Given the description of an element on the screen output the (x, y) to click on. 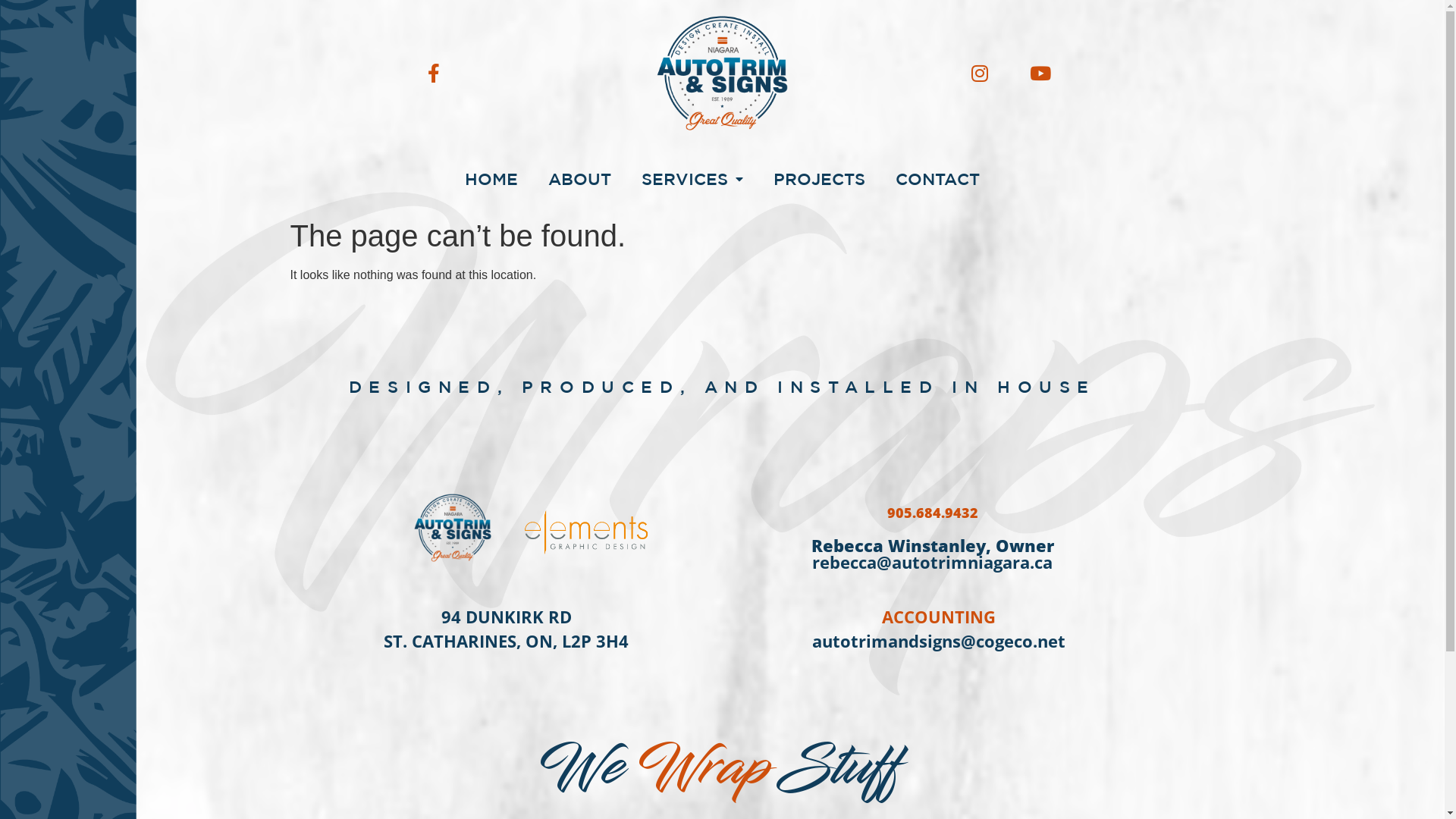
SERVICES Element type: text (692, 178)
CONTACT Element type: text (937, 178)
ABOUT Element type: text (579, 178)
HOME Element type: text (491, 178)
ST. CATHARINES, ON, L2P 3H4 Element type: text (505, 640)
905.684.9432 Element type: text (932, 512)
PROJECTS Element type: text (819, 178)
Rebecca Winstanley, Owner Element type: text (932, 544)
rebecca@autotrimniagara.ca Element type: text (932, 561)
autotrimandsigns@cogeco.net Element type: text (937, 640)
94 DUNKIRK RD Element type: text (506, 604)
ACCOUNTING Element type: text (937, 604)
